Given the description of an element on the screen output the (x, y) to click on. 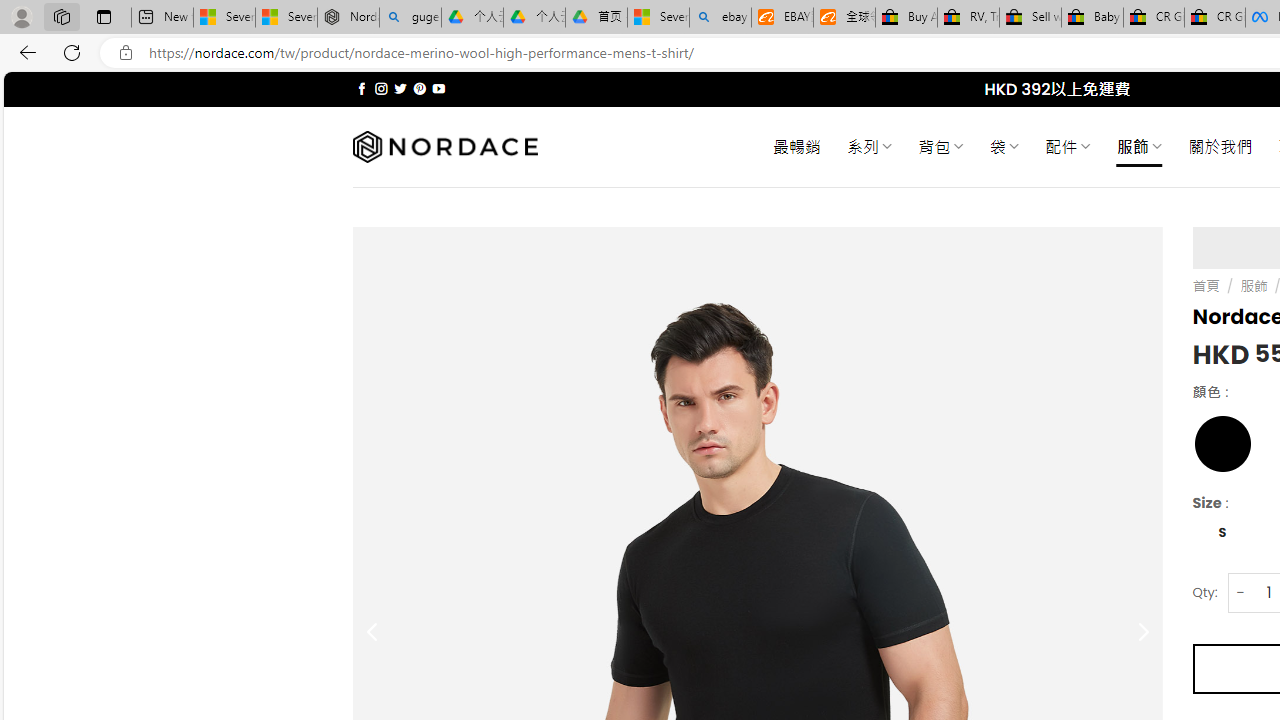
- (1240, 591)
Sell worldwide with eBay (1030, 17)
